Given the description of an element on the screen output the (x, y) to click on. 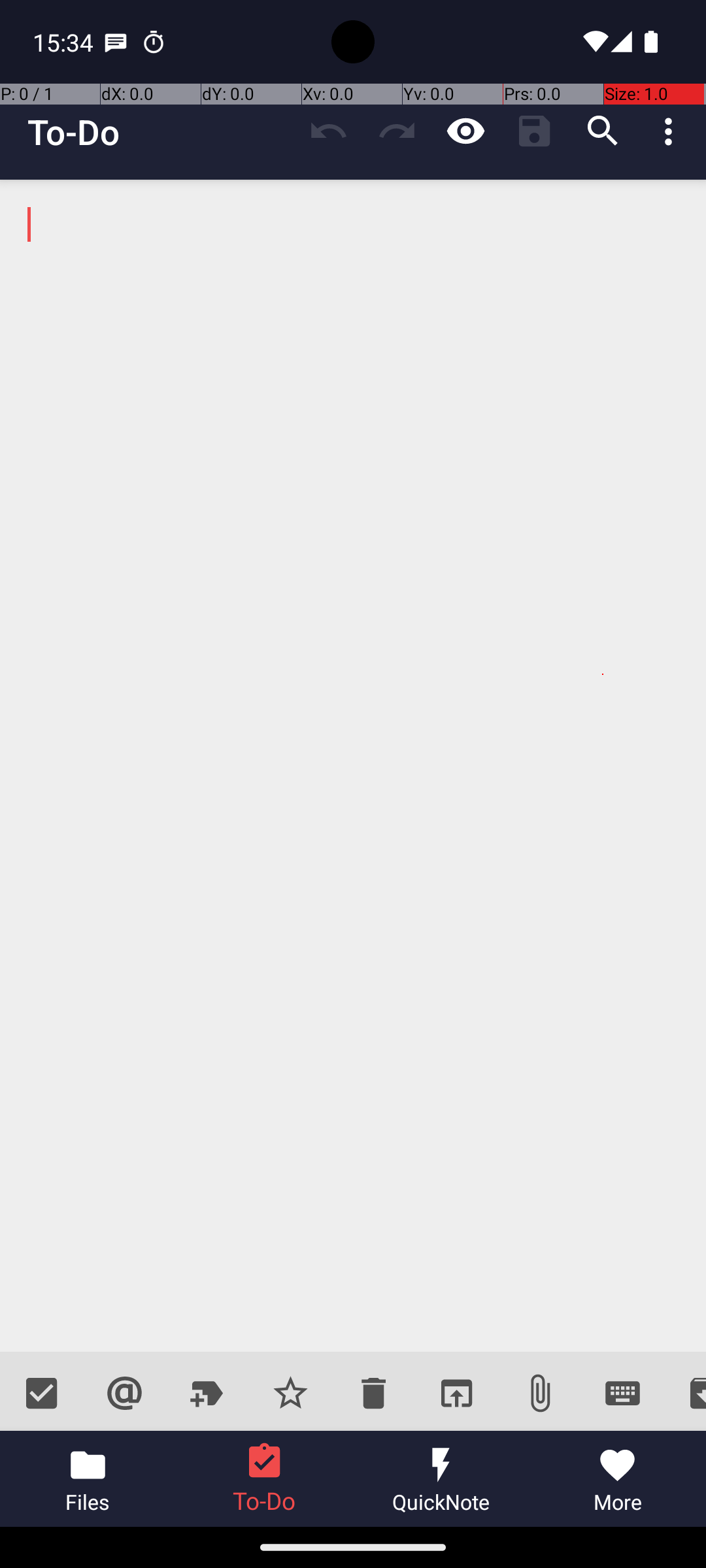
SMS Messenger notification: Emily Ibrahim Element type: android.widget.ImageView (115, 41)
